Given the description of an element on the screen output the (x, y) to click on. 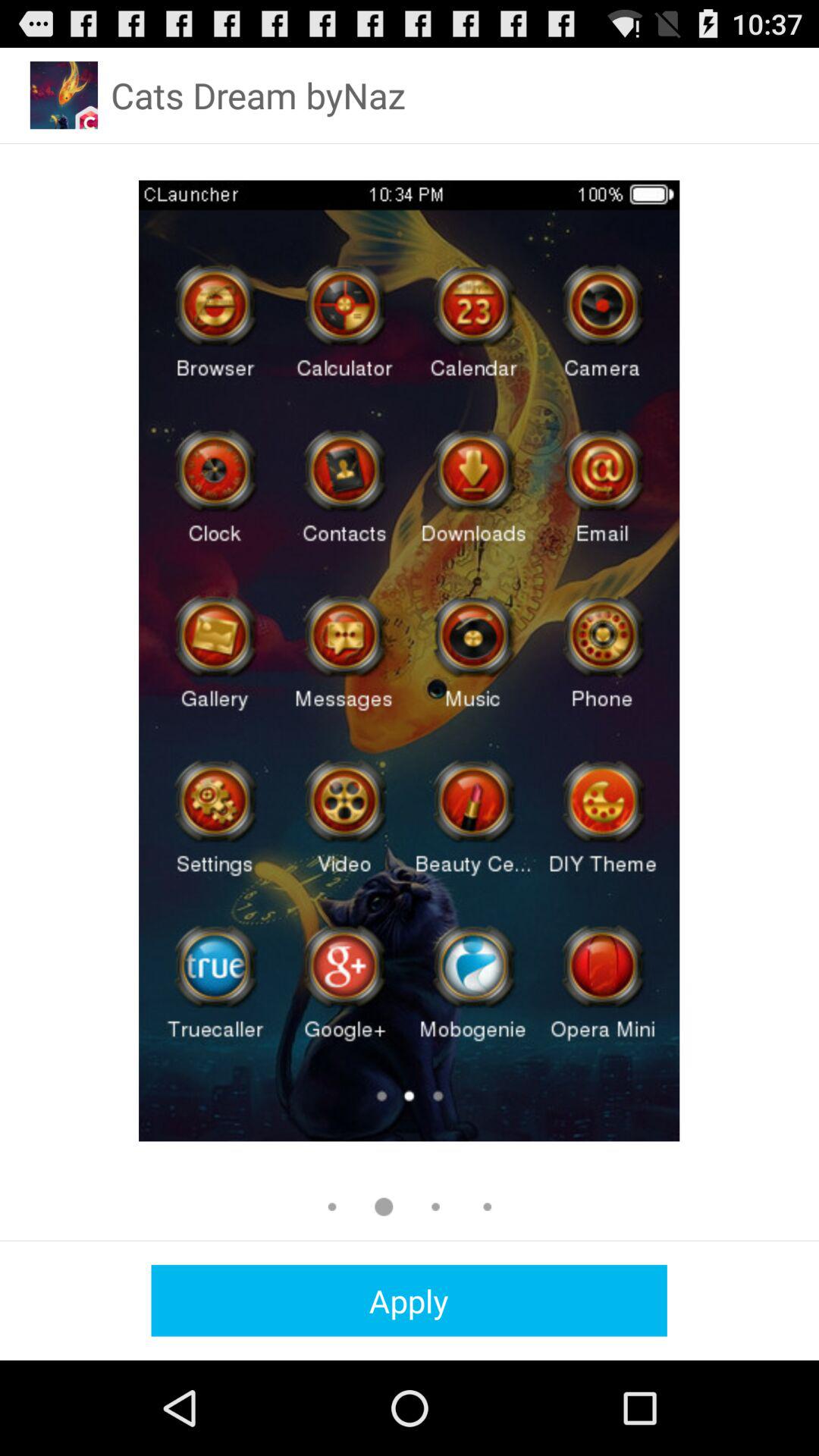
jump to the apply button (409, 1300)
